Given the description of an element on the screen output the (x, y) to click on. 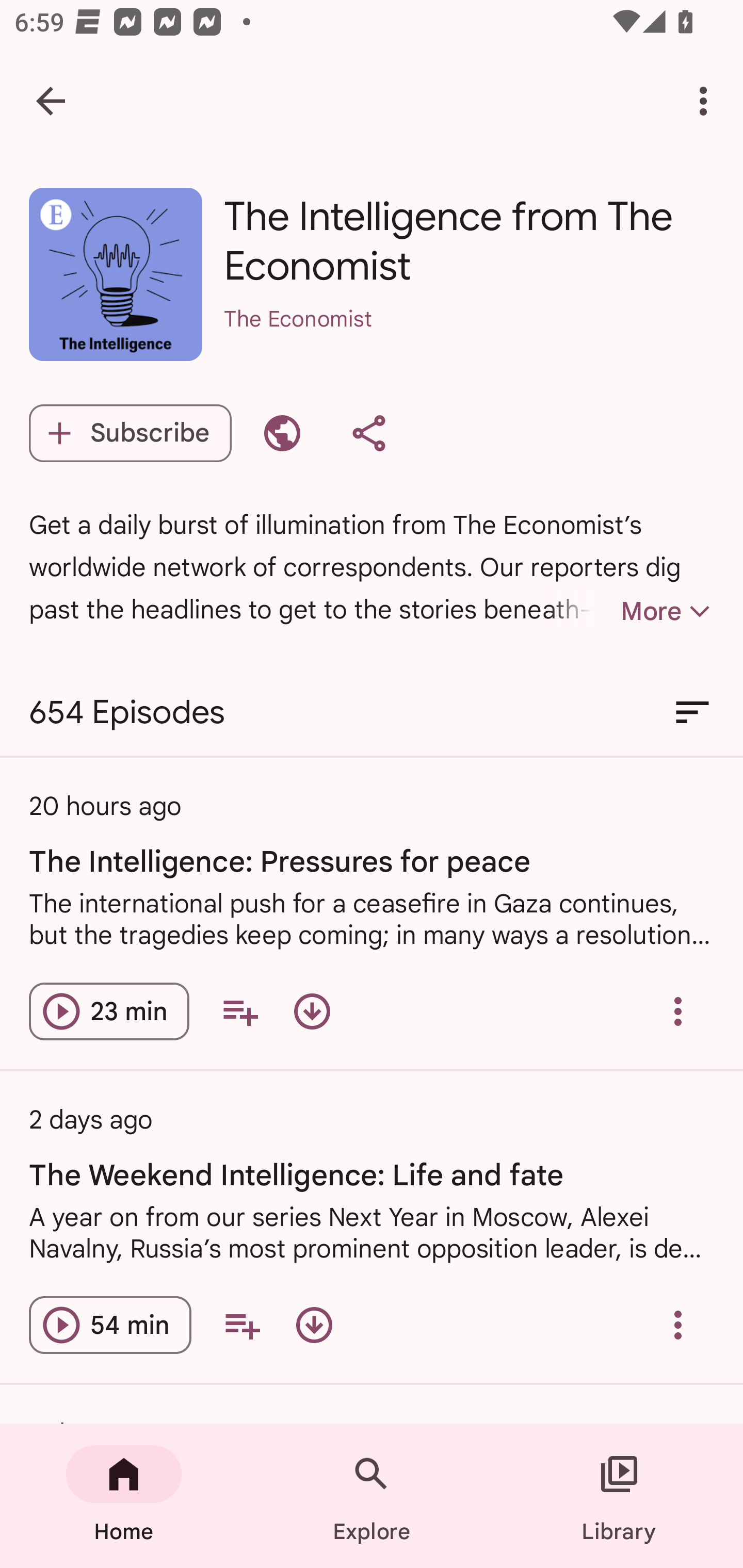
Navigate up (50, 101)
More options (706, 101)
The Economist (468, 345)
Subscribe (129, 433)
Visit website (282, 433)
Share (368, 433)
More (631, 610)
Sort (692, 712)
Add to your queue (239, 1011)
Download episode (312, 1011)
Overflow menu (677, 1011)
Add to your queue (241, 1324)
Download episode (313, 1324)
Overflow menu (677, 1324)
Explore (371, 1495)
Library (619, 1495)
